Given the description of an element on the screen output the (x, y) to click on. 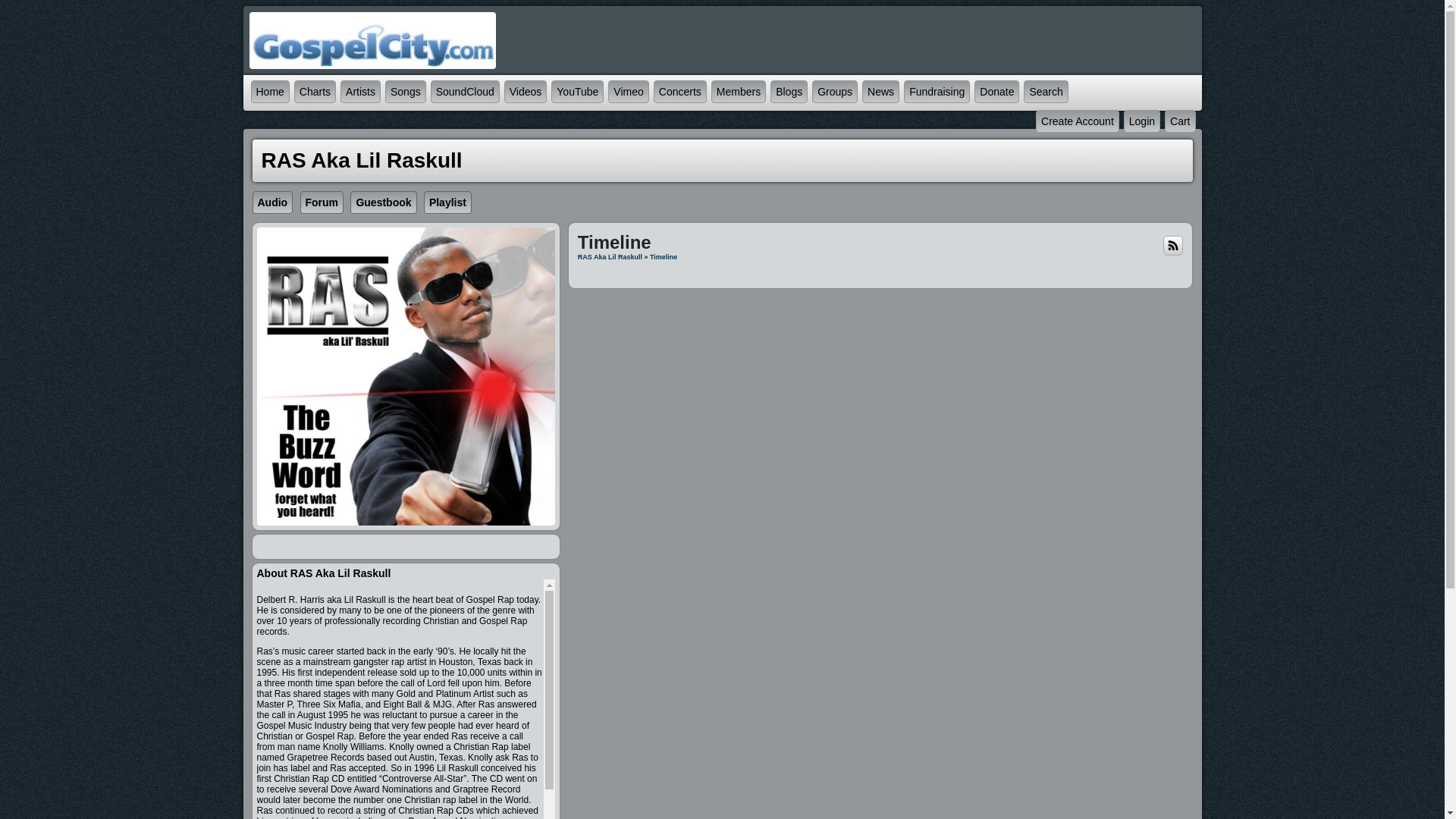
Donate (996, 91)
YouTube (577, 91)
Audio (274, 203)
Charts (314, 91)
Timeline (663, 257)
Songs (405, 91)
timeline feed (1172, 244)
Search (1045, 91)
Blogs (789, 91)
Fundraising (935, 91)
Home (269, 91)
SoundCloud (465, 91)
Artists (360, 91)
Site Search (1045, 91)
